Given the description of an element on the screen output the (x, y) to click on. 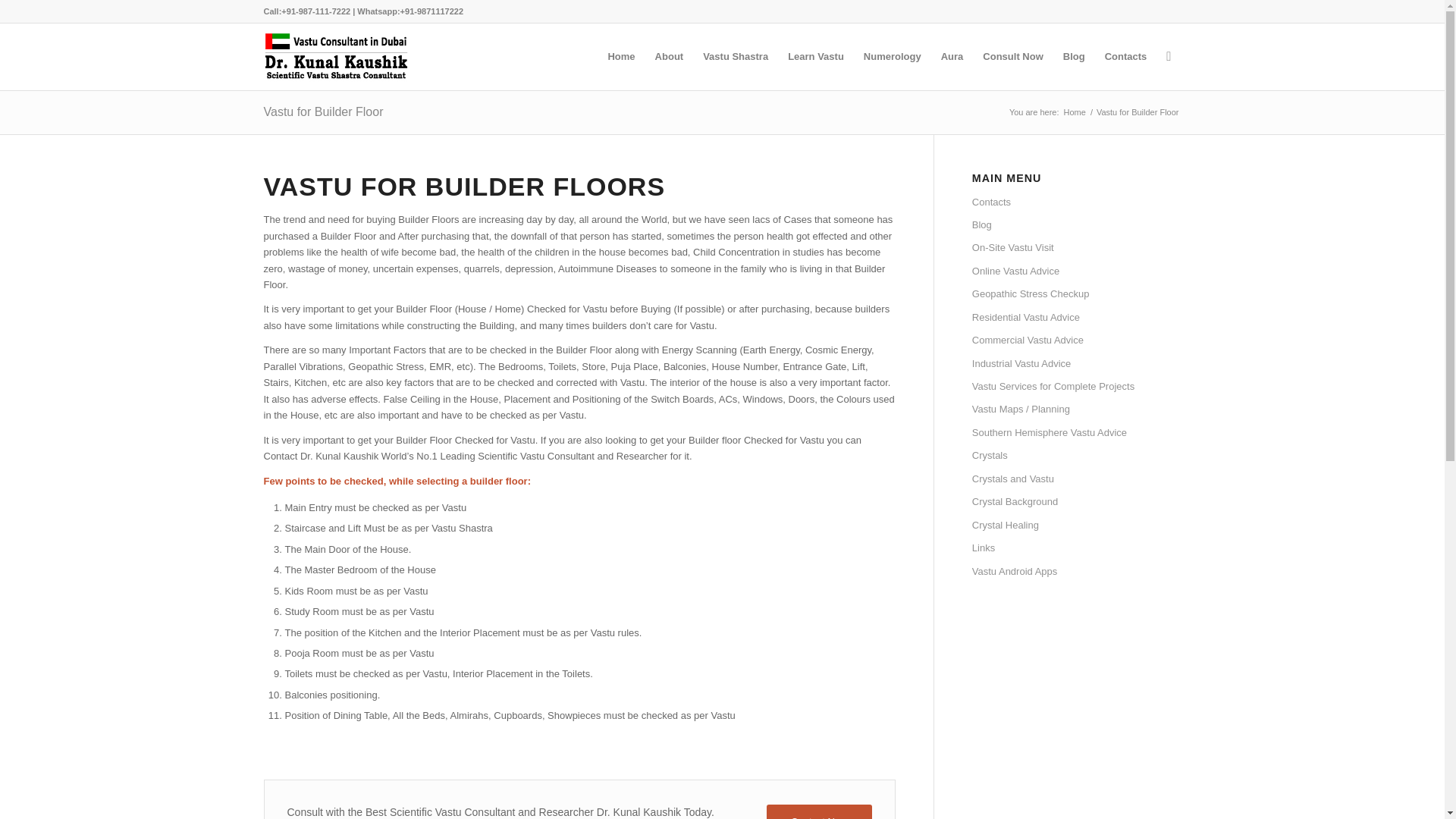
Vastu Shastra (735, 56)
Permanent Link: Vastu for Builder Floor (323, 111)
Vastu Consultant in Dubai (1074, 112)
